Given the description of an element on the screen output the (x, y) to click on. 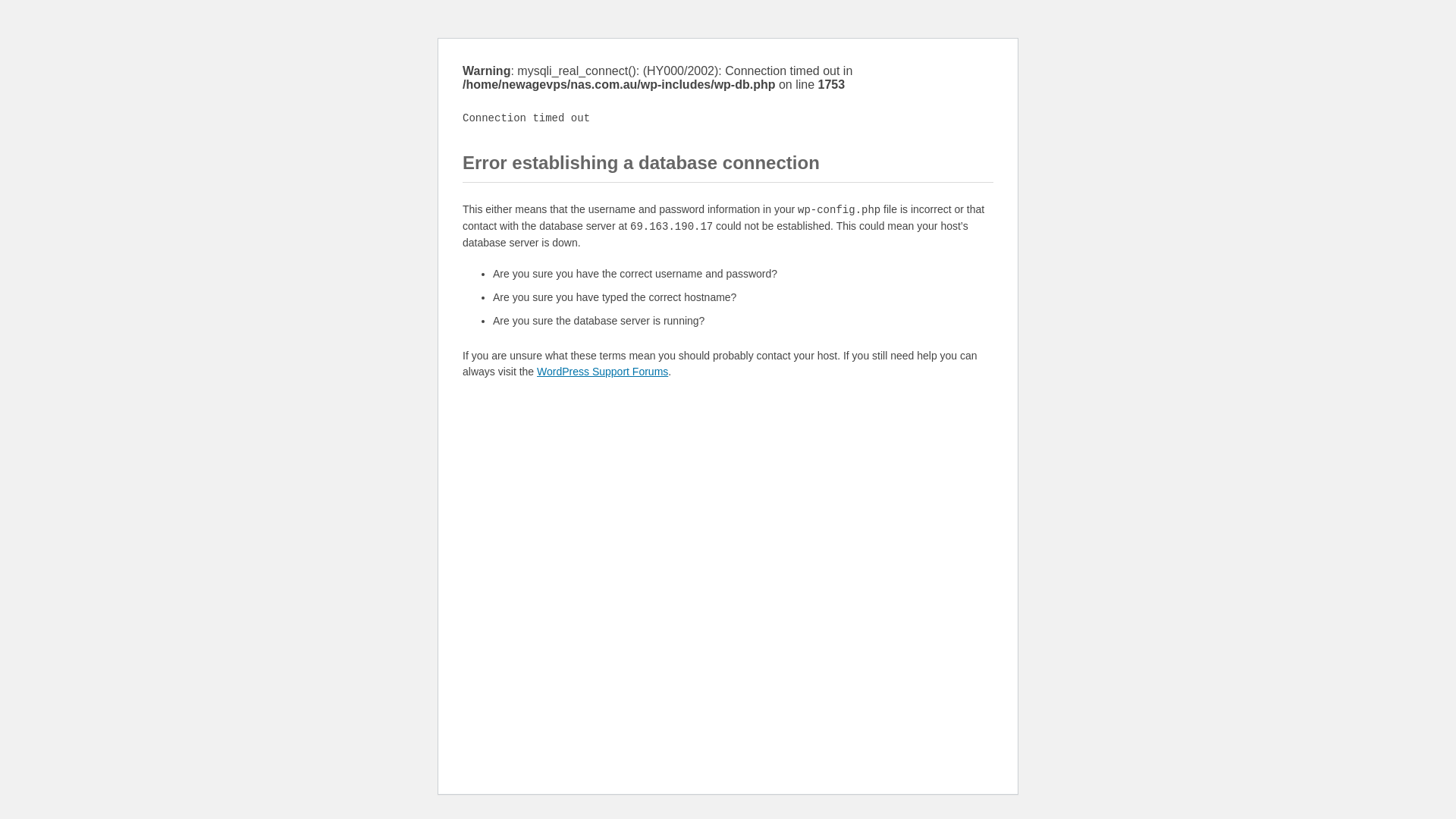
WordPress Support Forums Element type: text (602, 371)
